Given the description of an element on the screen output the (x, y) to click on. 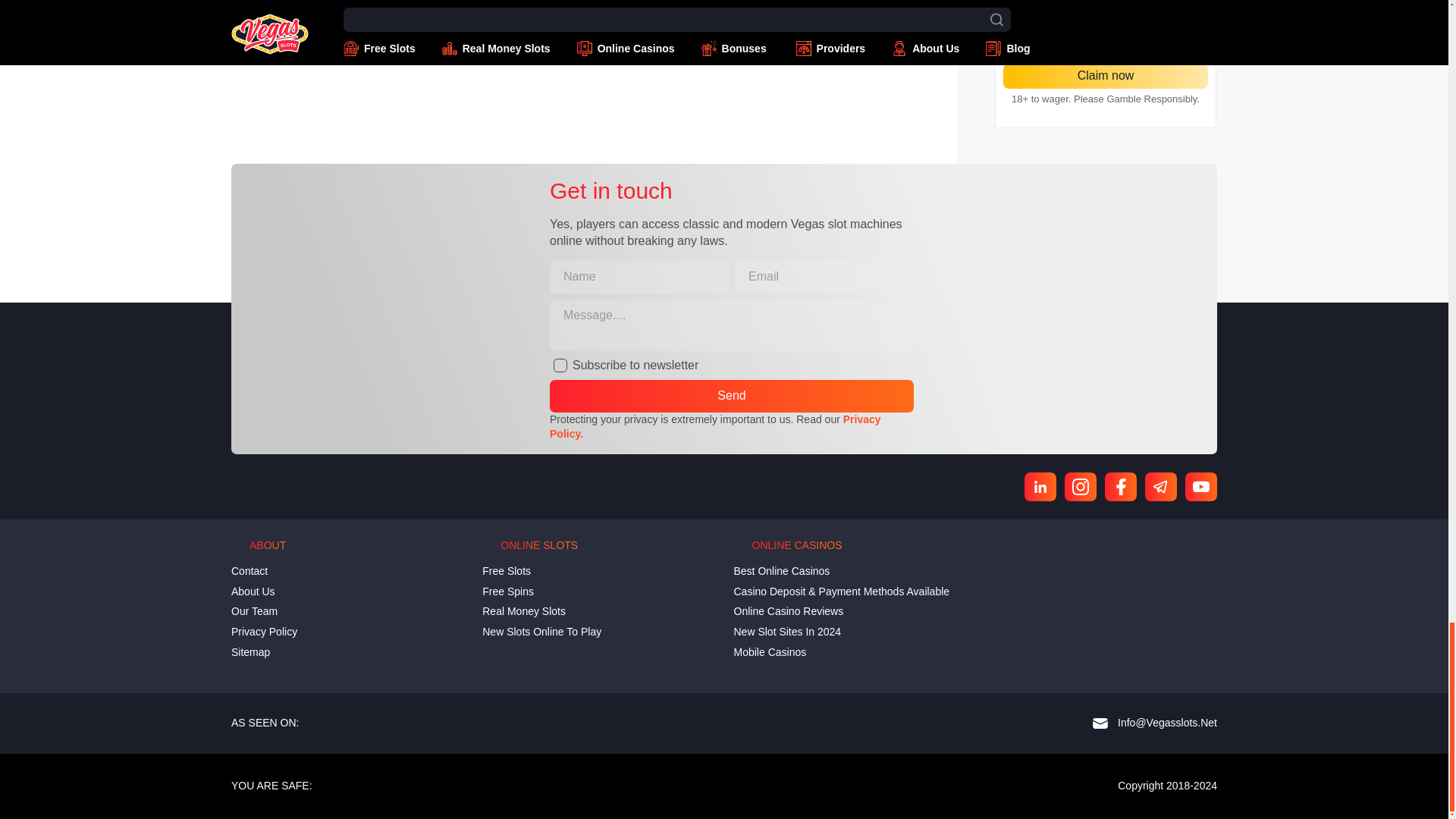
Send (732, 395)
